Given the description of an element on the screen output the (x, y) to click on. 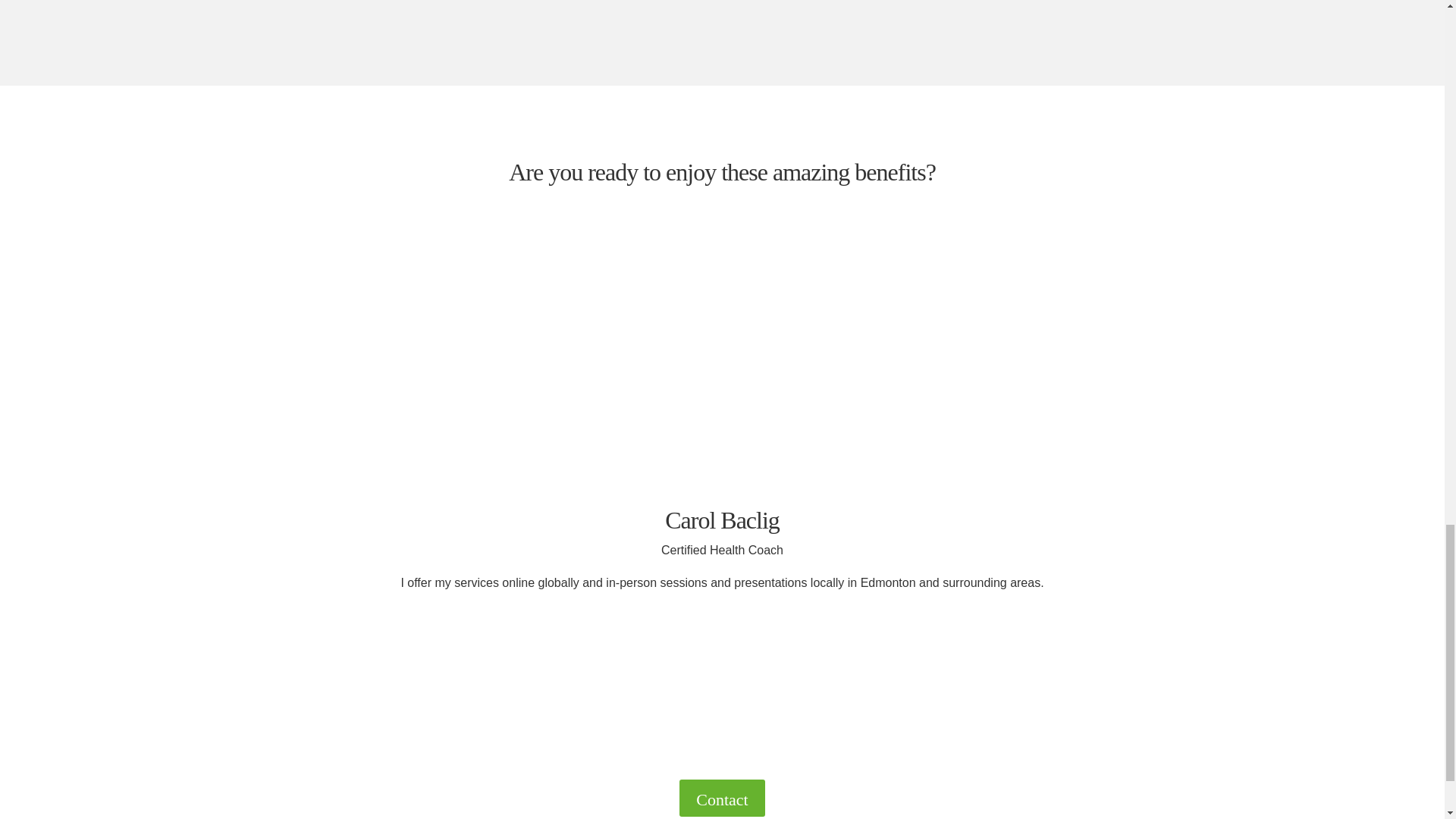
Contact (721, 797)
